Given the description of an element on the screen output the (x, y) to click on. 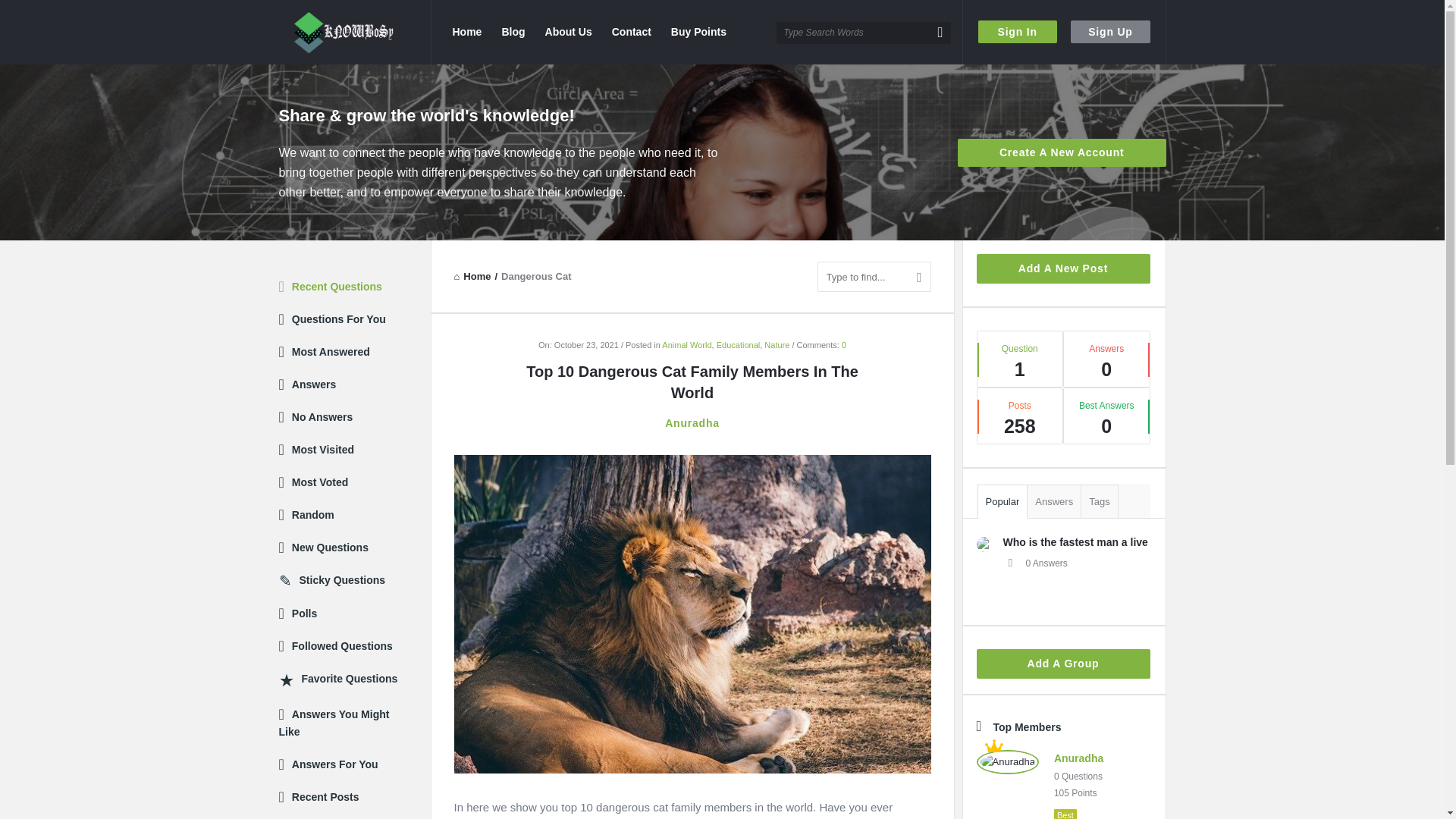
Contact (631, 32)
Anuradha (1007, 762)
Sign In (1017, 31)
Home (466, 32)
Animal World (686, 344)
Who is the fastest man a live (1075, 541)
Blog (513, 32)
knowbosy (343, 32)
Top 10 Dangerous Cat Family Members In The World (691, 613)
Create A New Account (1062, 152)
Home (471, 276)
Home (471, 276)
About Us (568, 32)
knowbosy (354, 32)
Dinesh (983, 544)
